Given the description of an element on the screen output the (x, y) to click on. 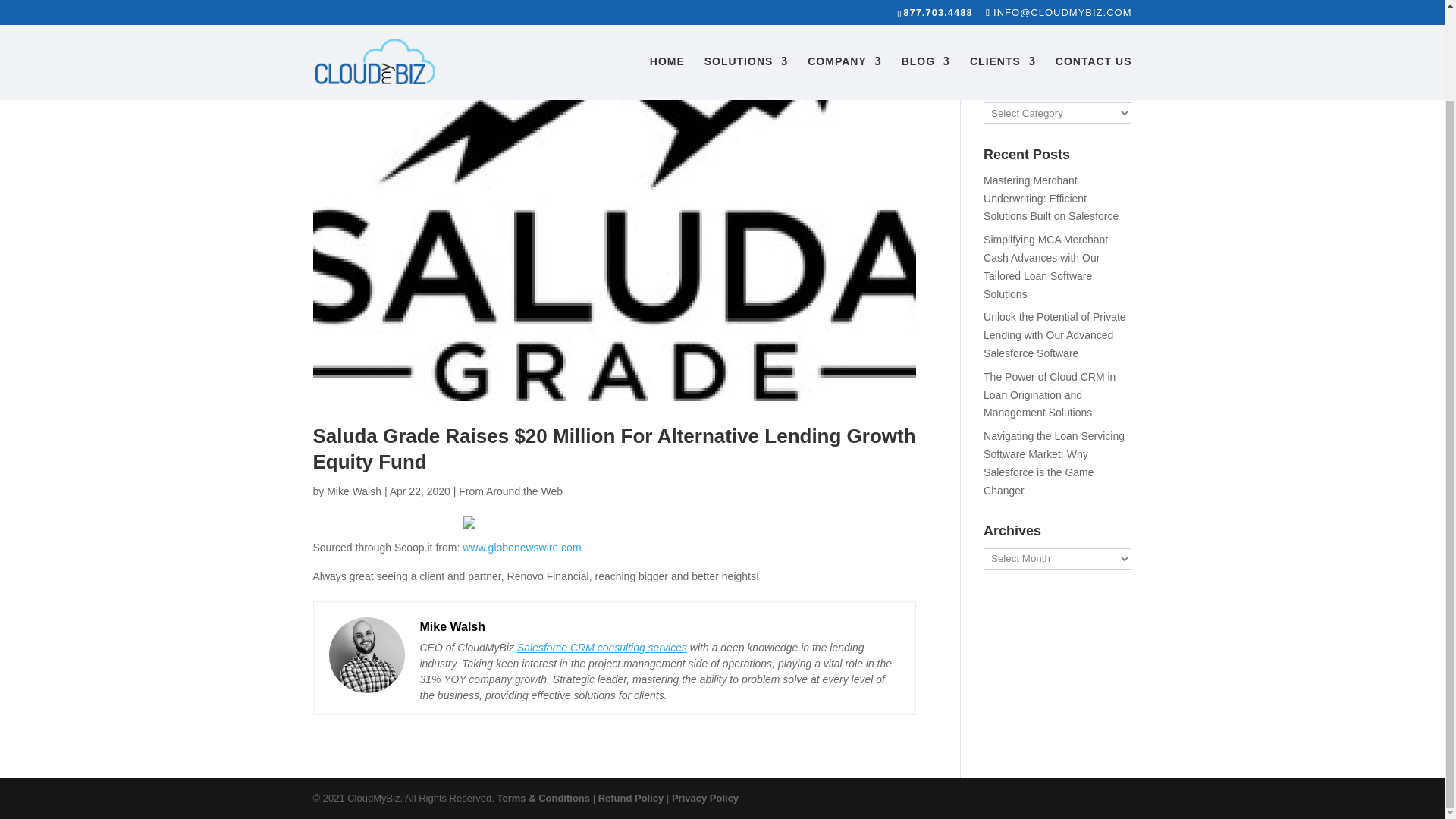
Search (1106, 39)
From Around the Web (510, 491)
Posts by Mike Walsh (353, 491)
Mike Walsh (353, 491)
Search (1106, 39)
Refund Policy (630, 797)
Mike Walsh (453, 626)
